Given the description of an element on the screen output the (x, y) to click on. 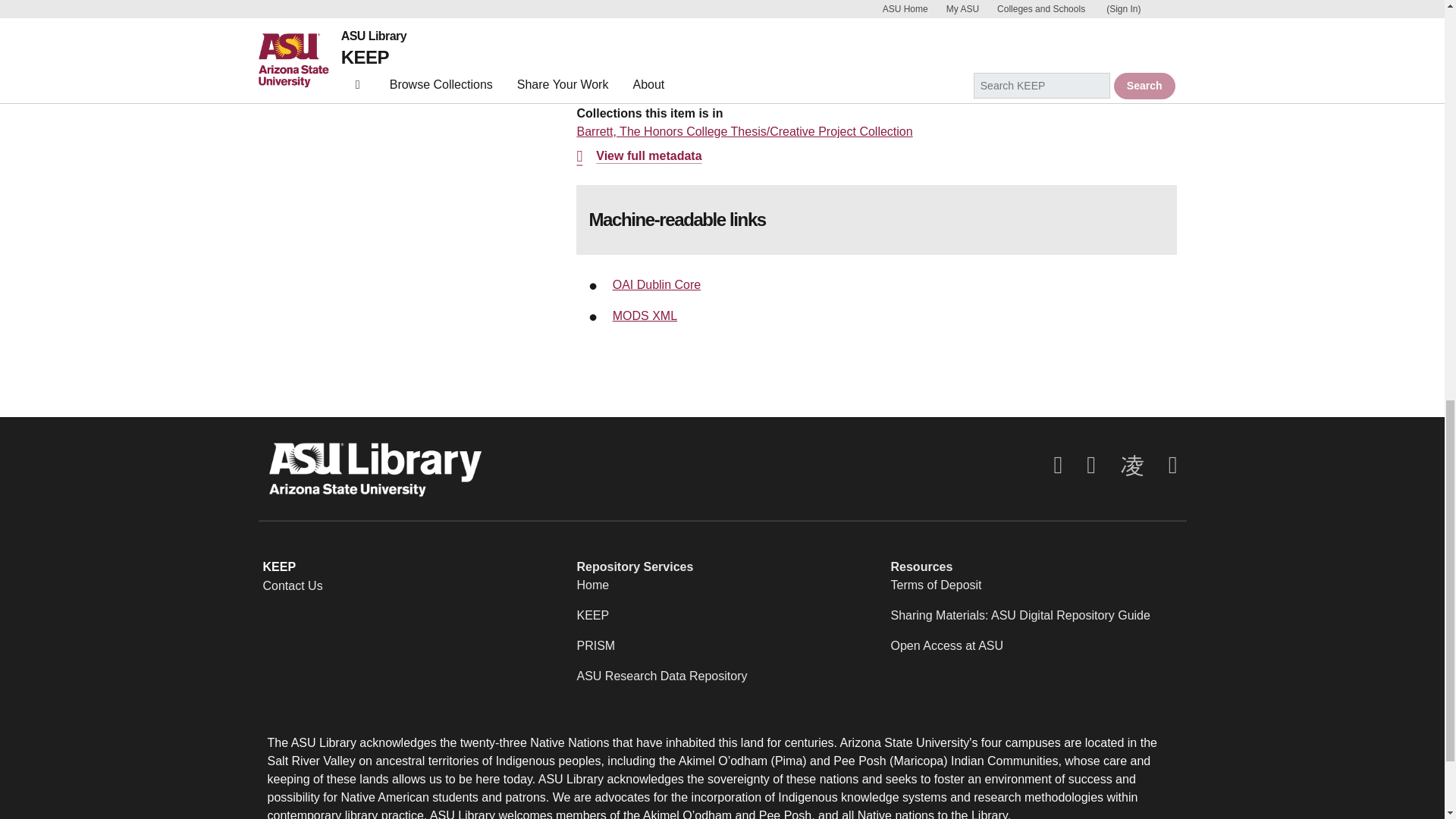
Nextrek (648, 46)
Adidas (594, 46)
Innovation (711, 46)
